Given the description of an element on the screen output the (x, y) to click on. 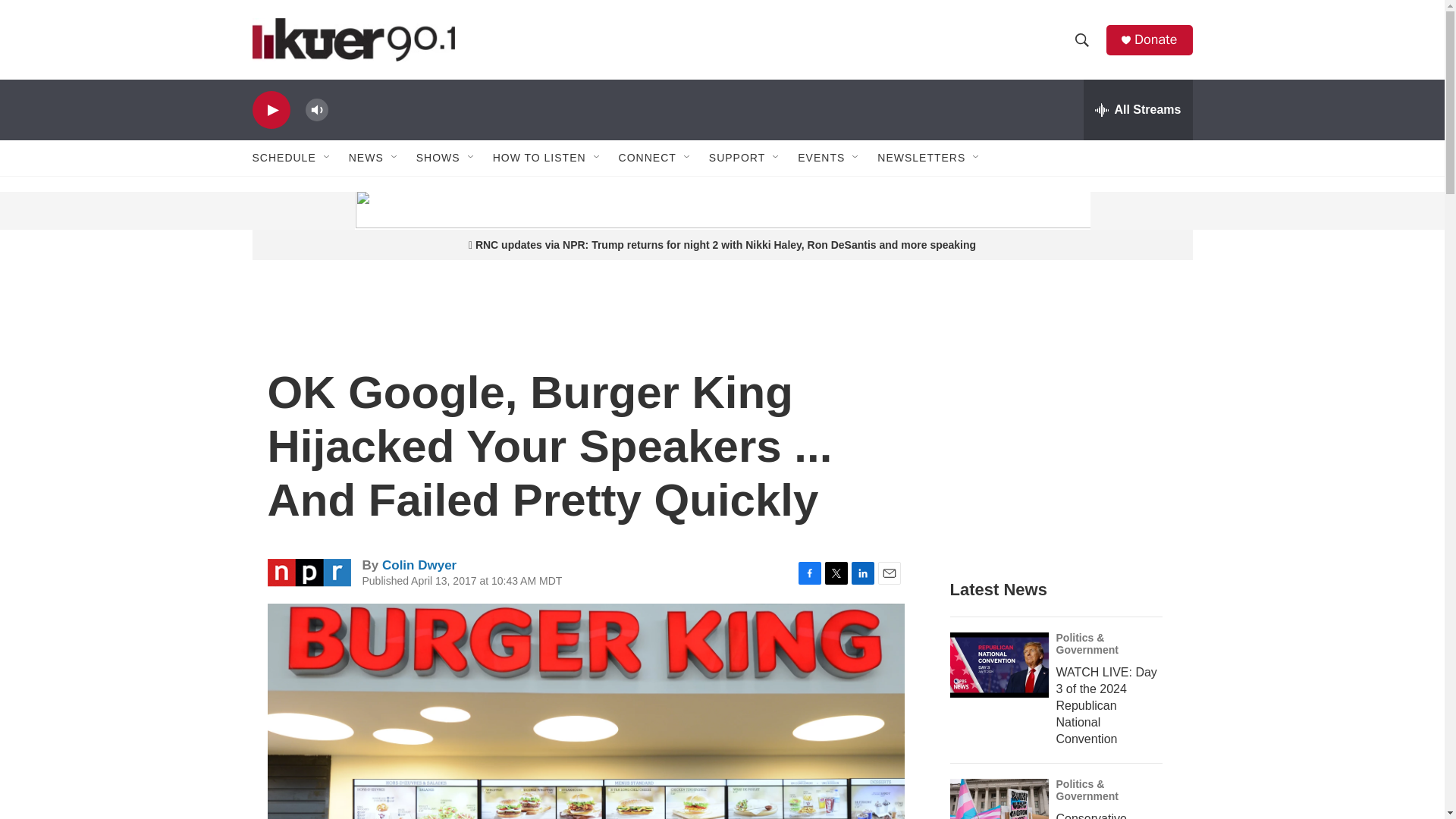
3rd party ad content (1062, 434)
3rd party ad content (367, 210)
